Given the description of an element on the screen output the (x, y) to click on. 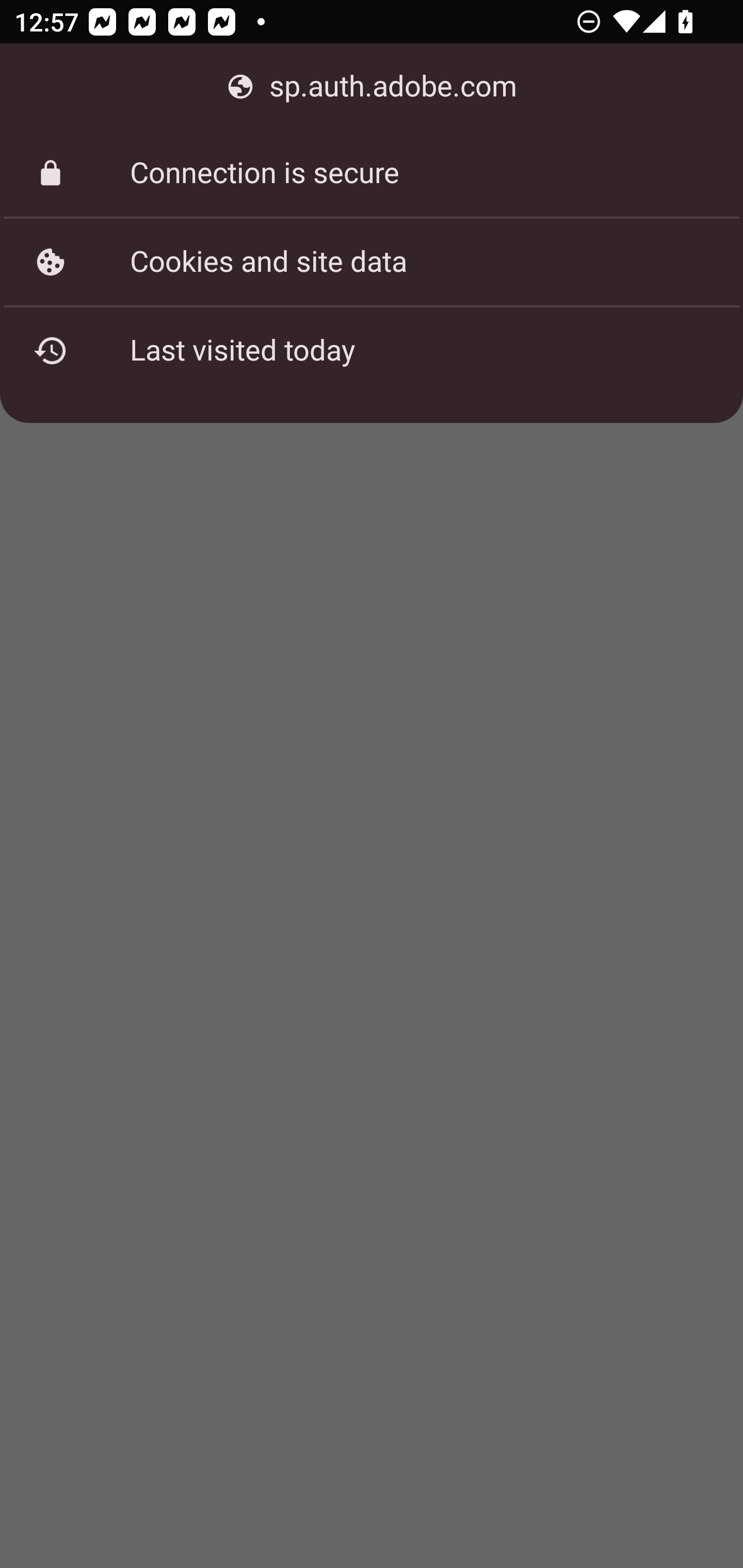
sp.auth.adobe.com (371, 86)
Connection is secure (371, 173)
Cookies and site data (371, 261)
Last visited today (371, 350)
